Given the description of an element on the screen output the (x, y) to click on. 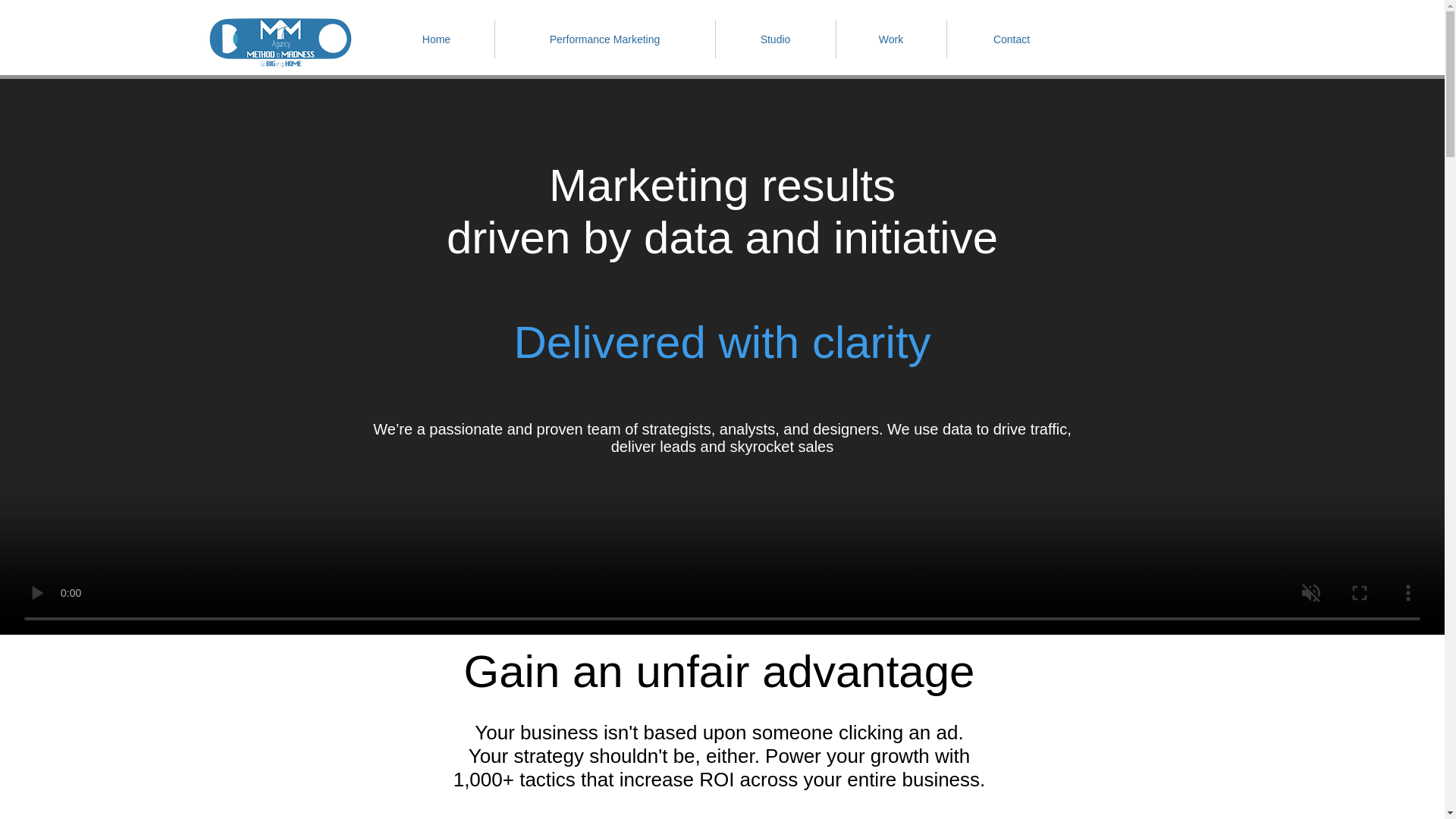
Work (889, 39)
Home (436, 39)
Studio (775, 39)
Contact (1010, 39)
Performance Marketing (604, 39)
